Given the description of an element on the screen output the (x, y) to click on. 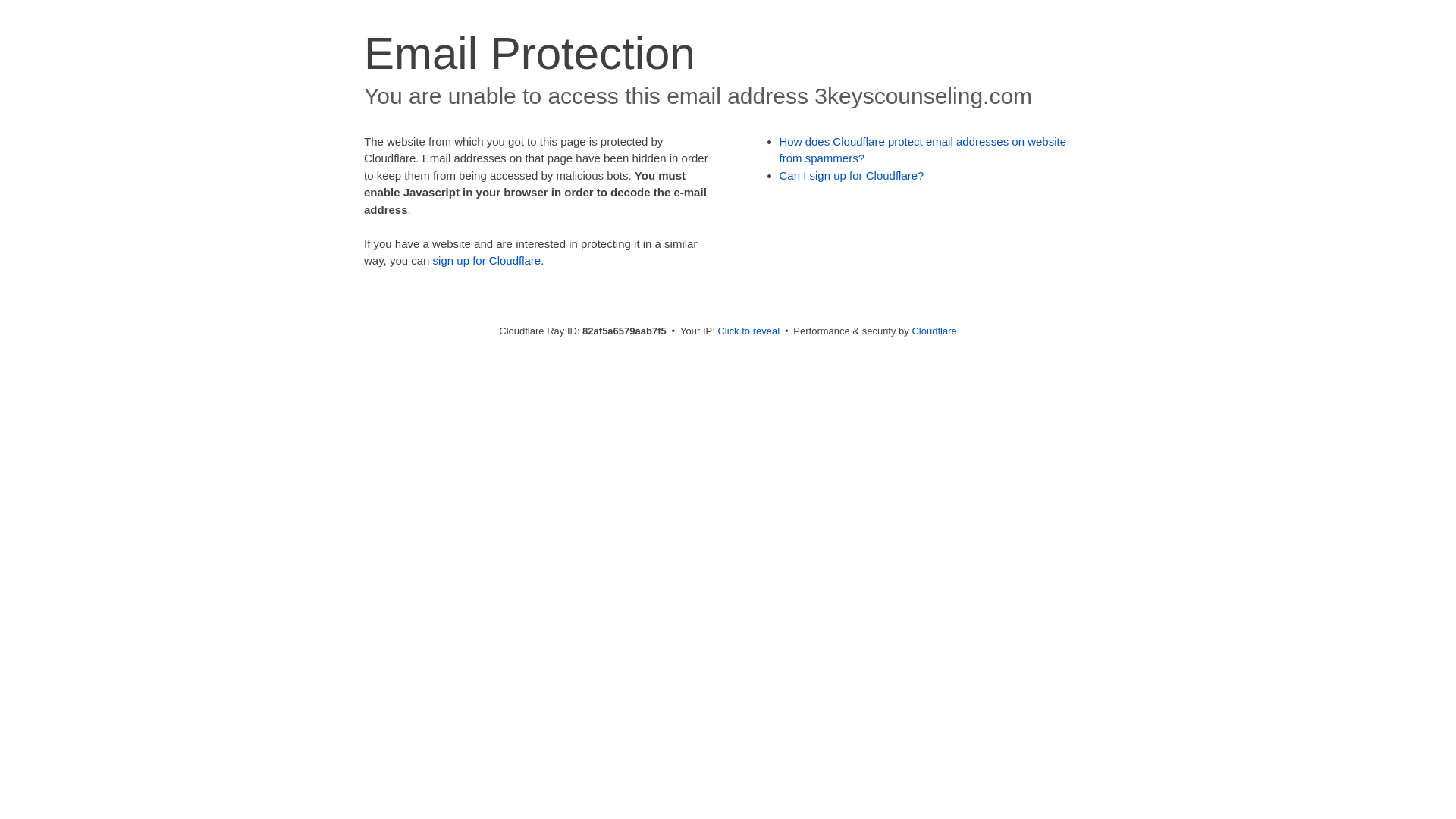
Can I sign up for Cloudflare? Element type: text (851, 175)
sign up for Cloudflare Element type: text (487, 260)
Click to reveal Element type: text (748, 330)
Cloudflare Element type: text (933, 330)
